Given the description of an element on the screen output the (x, y) to click on. 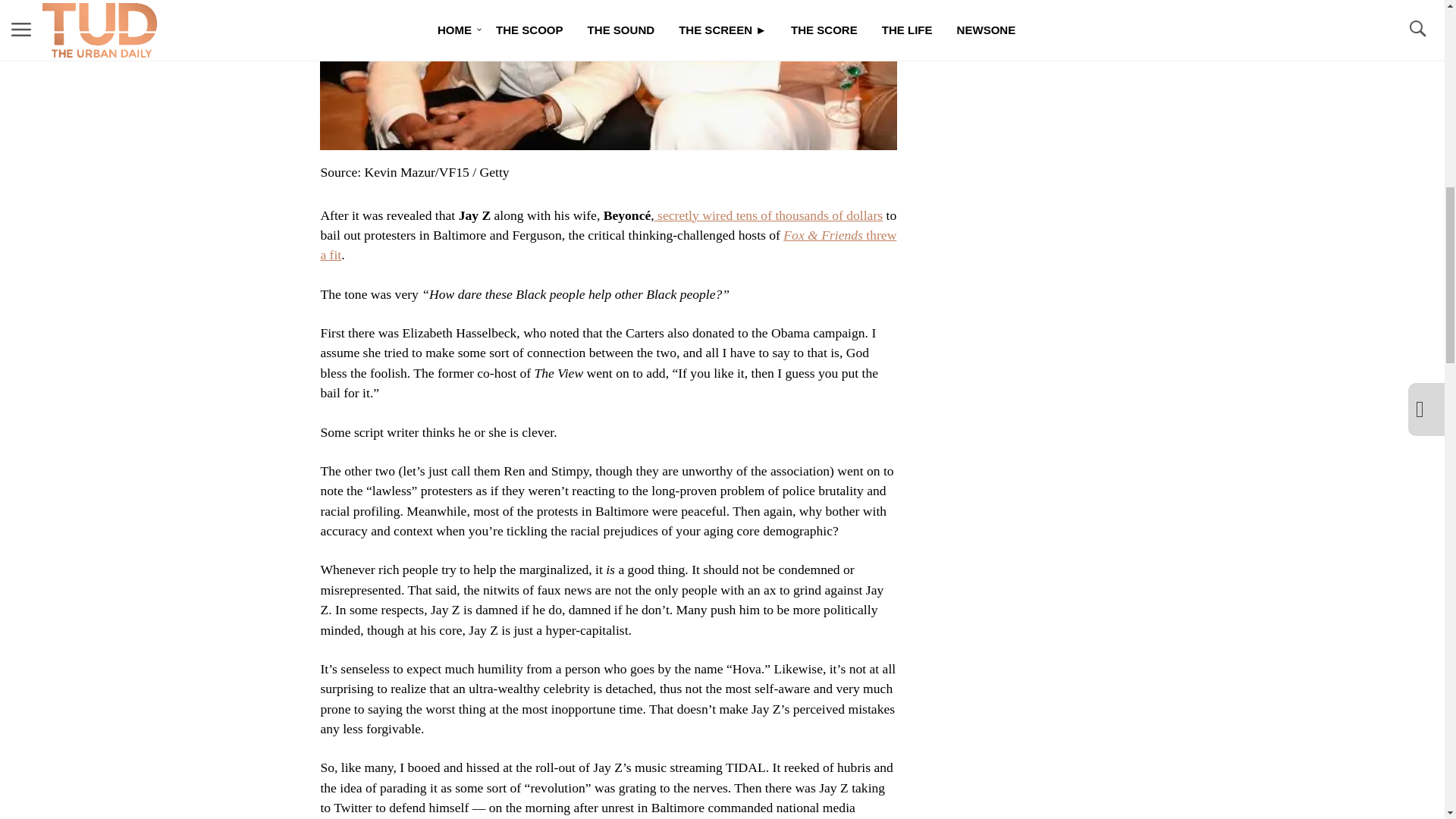
secretly wired tens of thousands of dollars (767, 215)
